Given the description of an element on the screen output the (x, y) to click on. 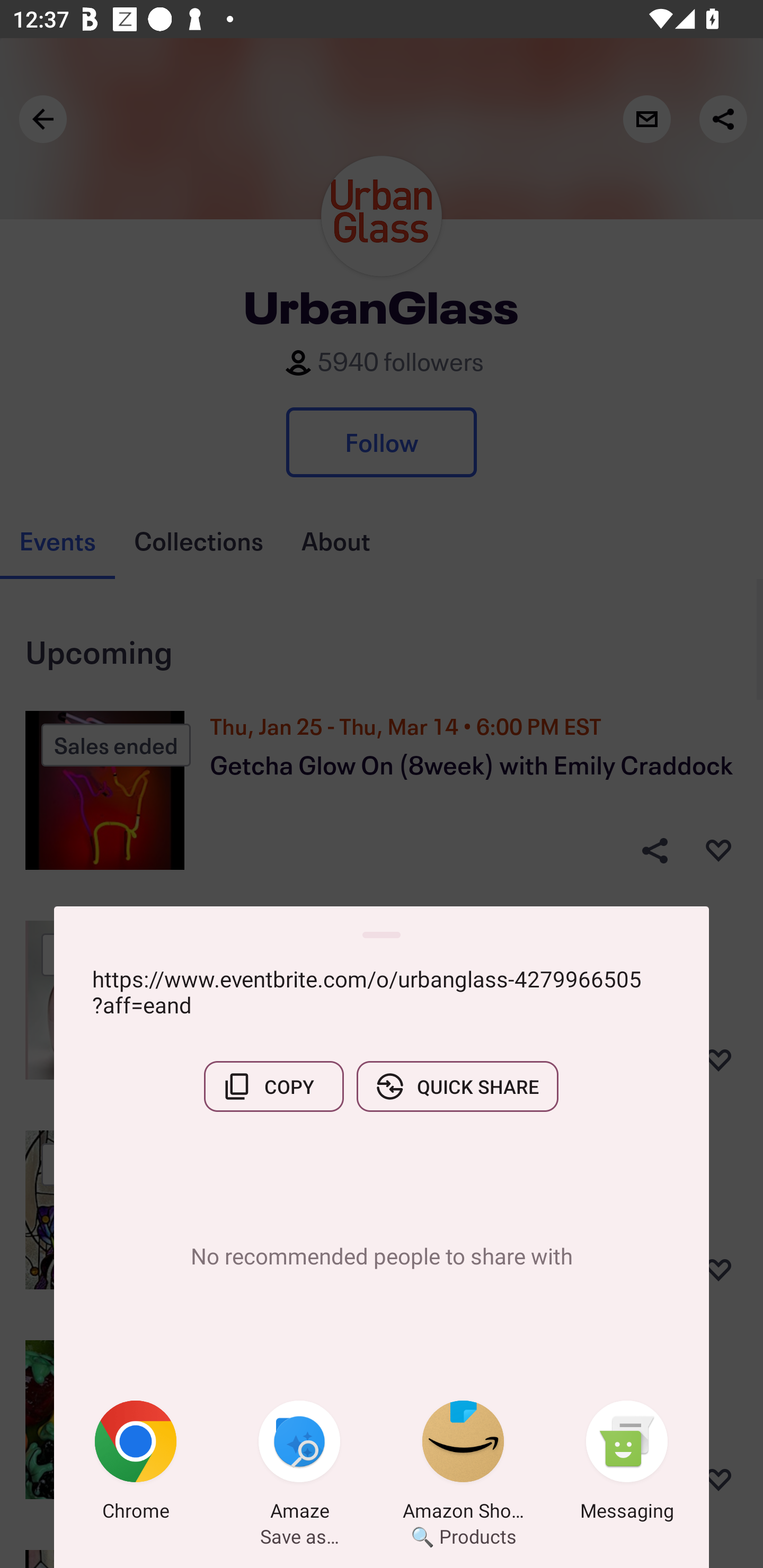
COPY (273, 1086)
QUICK SHARE (457, 1086)
Chrome (135, 1463)
Amaze Save as… (299, 1463)
Amazon Shopping 🔍 Products (463, 1463)
Messaging (626, 1463)
